Given the description of an element on the screen output the (x, y) to click on. 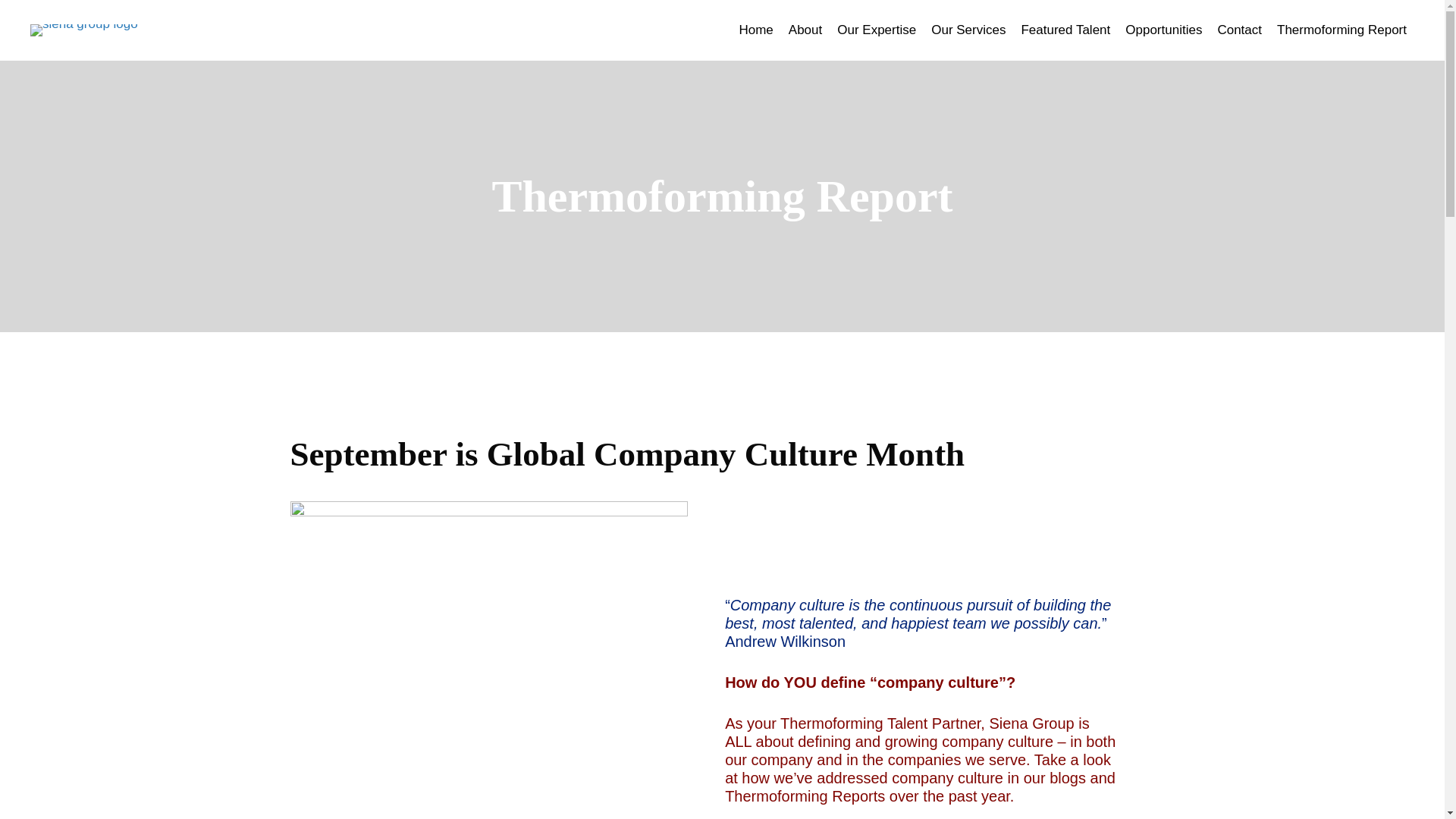
Our Services (968, 30)
Our Expertise (876, 30)
Thermoforming Report (1341, 30)
Contact (1239, 30)
Opportunities (1163, 30)
Home (755, 30)
About (804, 30)
Featured Talent (1065, 30)
